Given the description of an element on the screen output the (x, y) to click on. 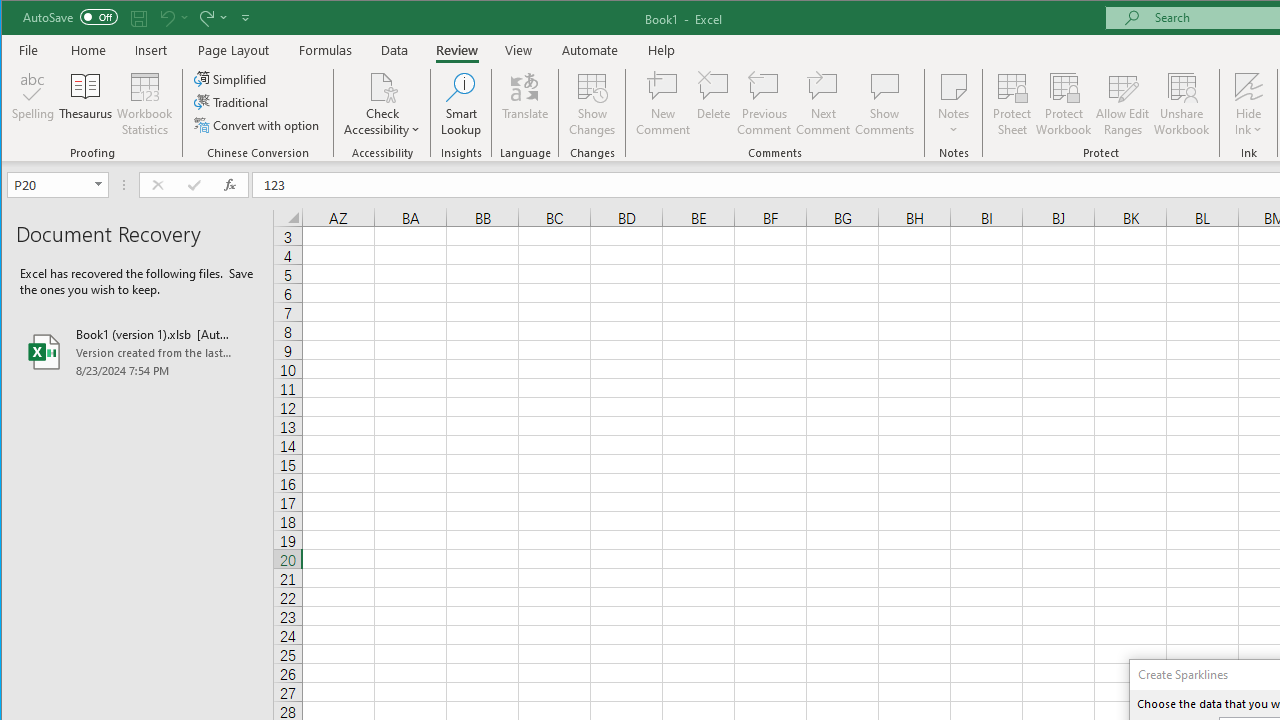
Next Comment (822, 104)
Data (395, 50)
New Comment (662, 104)
Show Changes (592, 104)
Spelling... (33, 104)
Hide Ink (1248, 104)
AutoSave (70, 16)
Book1 (version 1).xlsb  [AutoRecovered] (137, 352)
Review (456, 50)
Quick Access Toolbar (137, 17)
Save (139, 17)
Check Accessibility (381, 104)
